Given the description of an element on the screen output the (x, y) to click on. 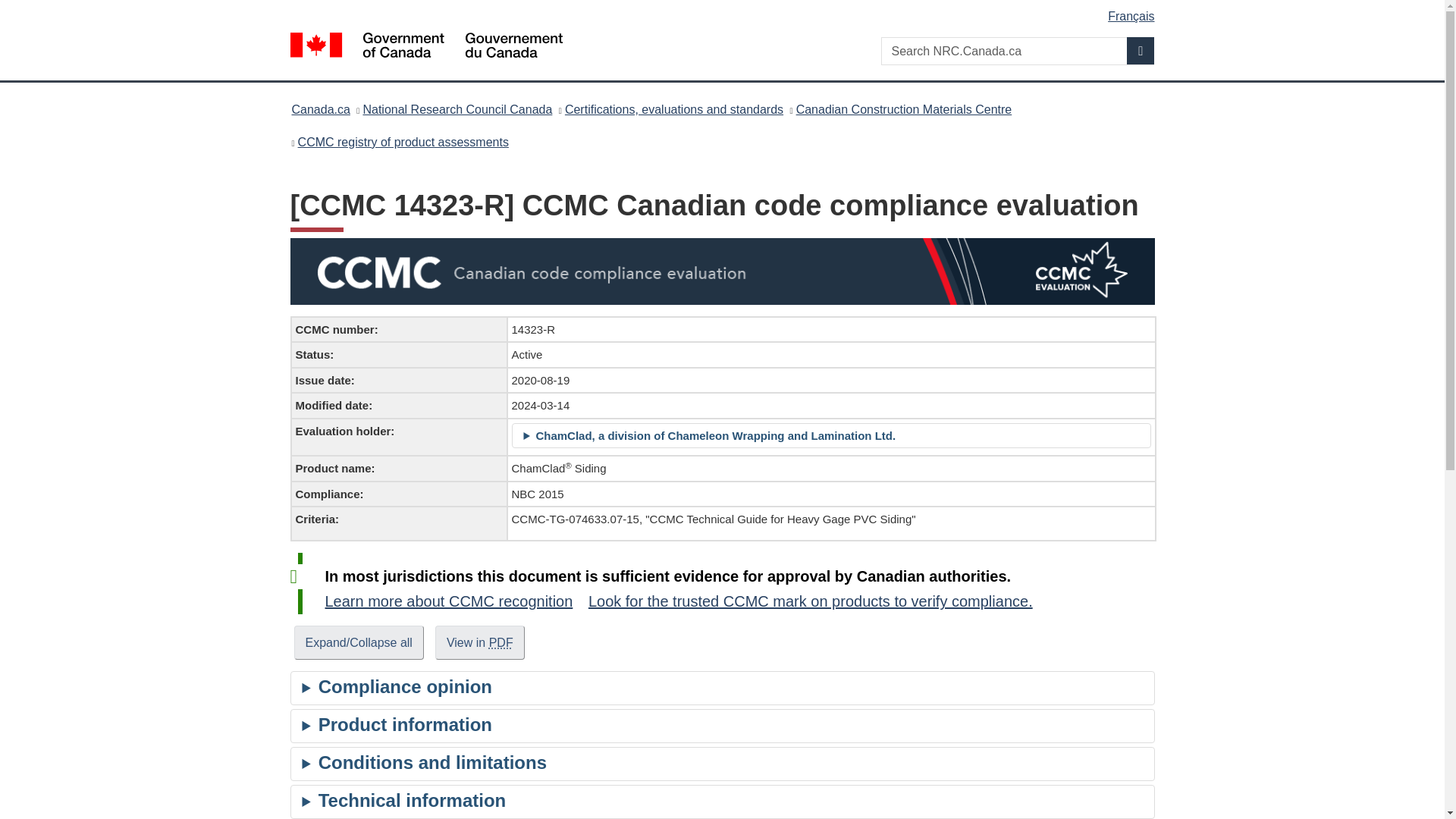
Learn more about CCMC recognition (448, 600)
Canada.ca (320, 109)
Skip to main content (725, 11)
Portable document format (501, 642)
CCMC registry of product assessments (403, 141)
Certifications, evaluations and standards (673, 109)
National Research Council Canada (456, 109)
Search (1140, 50)
Canadian Construction Materials Centre (903, 109)
